Given the description of an element on the screen output the (x, y) to click on. 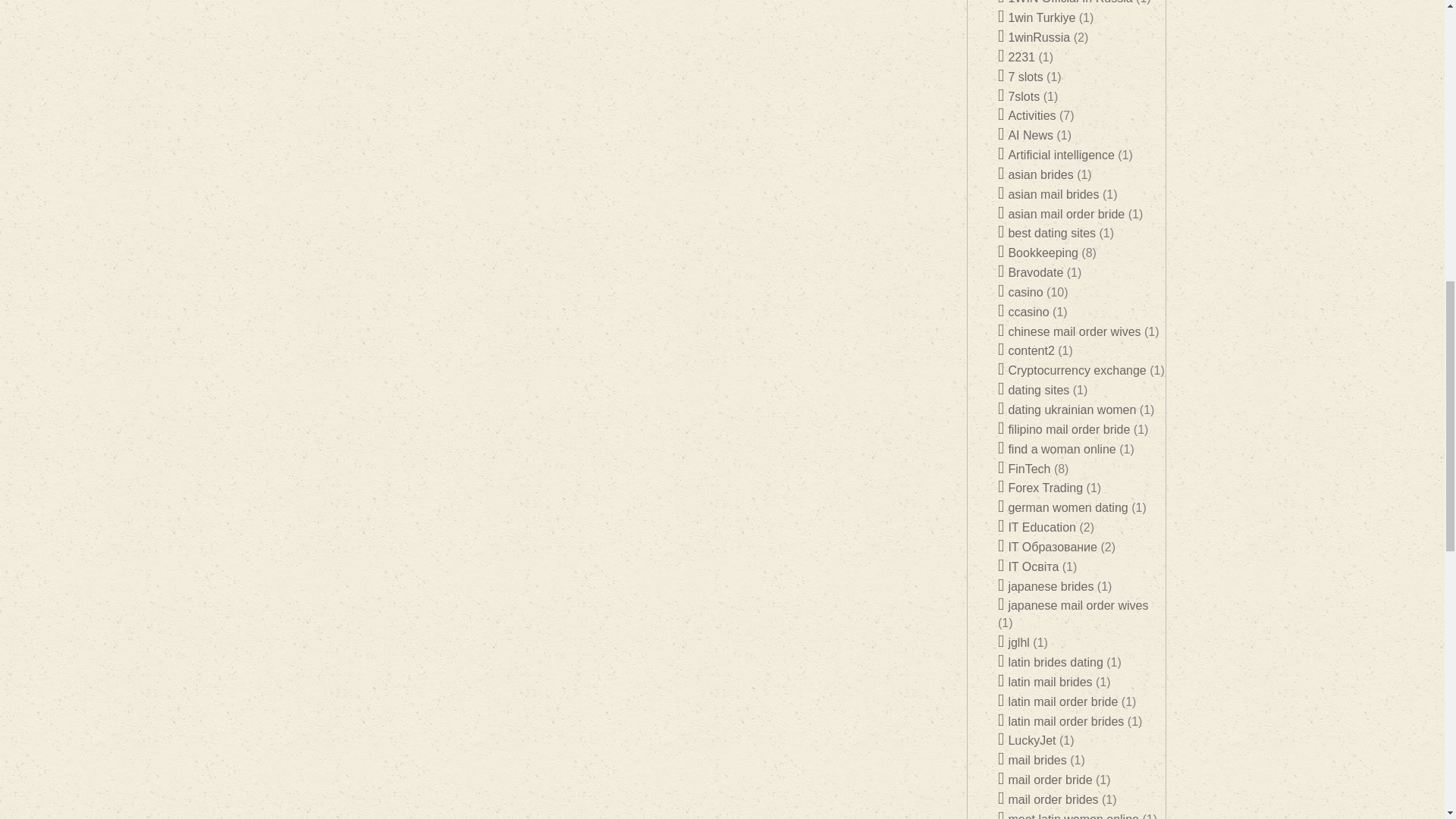
asian mail order bride (1060, 214)
1WIN Official In Russia (1064, 2)
1winRussia (1033, 37)
2231 (1016, 56)
casino (1020, 291)
7 slots (1020, 76)
chinese mail order wives (1069, 331)
Cryptocurrency exchange (1072, 369)
AI News (1024, 134)
Activities (1027, 115)
best dating sites (1046, 232)
asian mail brides (1048, 194)
1win Turkiye (1036, 17)
content2 (1025, 350)
asian brides (1035, 174)
